Given the description of an element on the screen output the (x, y) to click on. 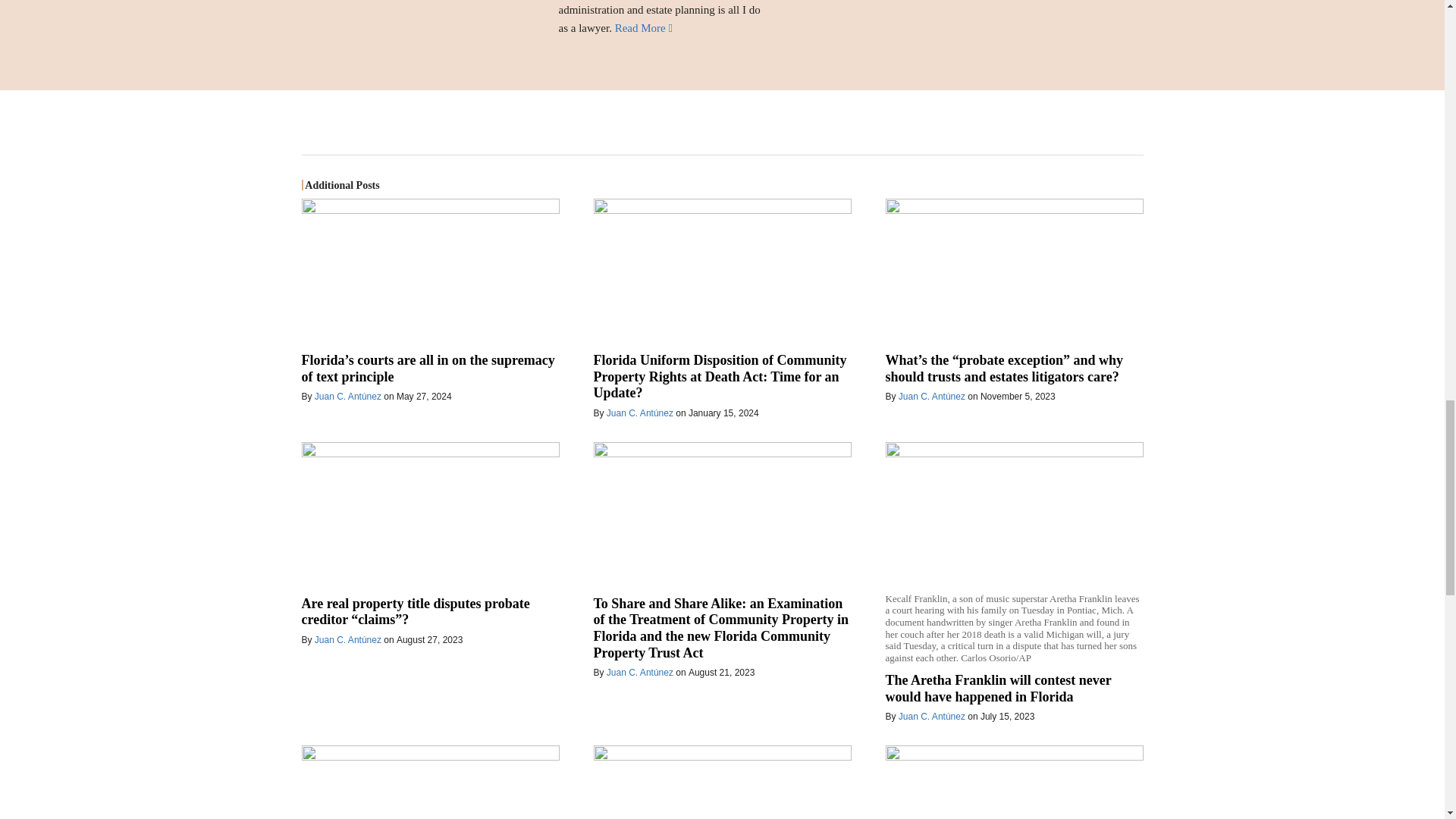
Read More (643, 28)
